Given the description of an element on the screen output the (x, y) to click on. 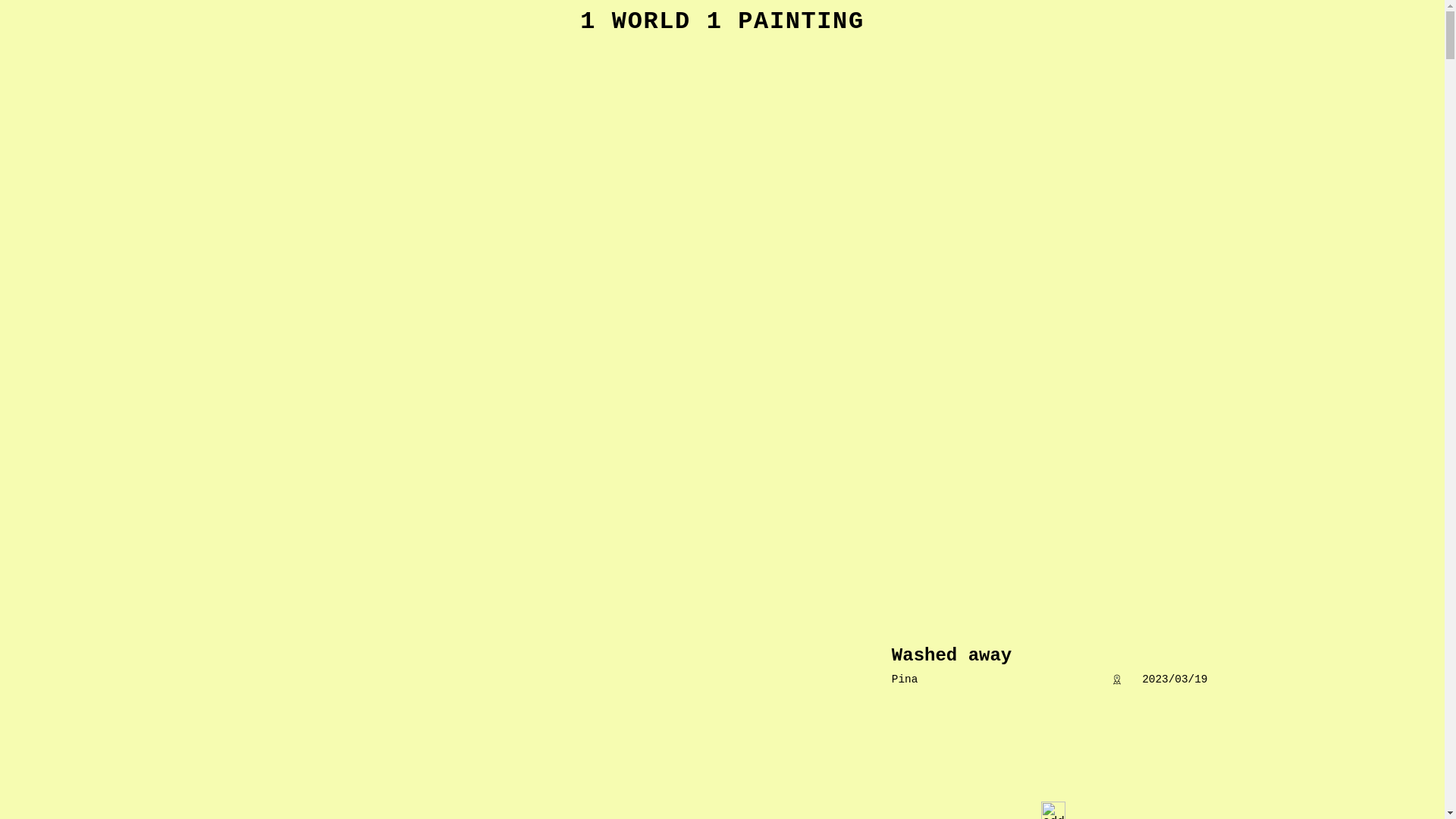
1 WORLD 1 PAINTING Element type: text (721, 21)
show spot in google maps Element type: hover (1116, 679)
